Given the description of an element on the screen output the (x, y) to click on. 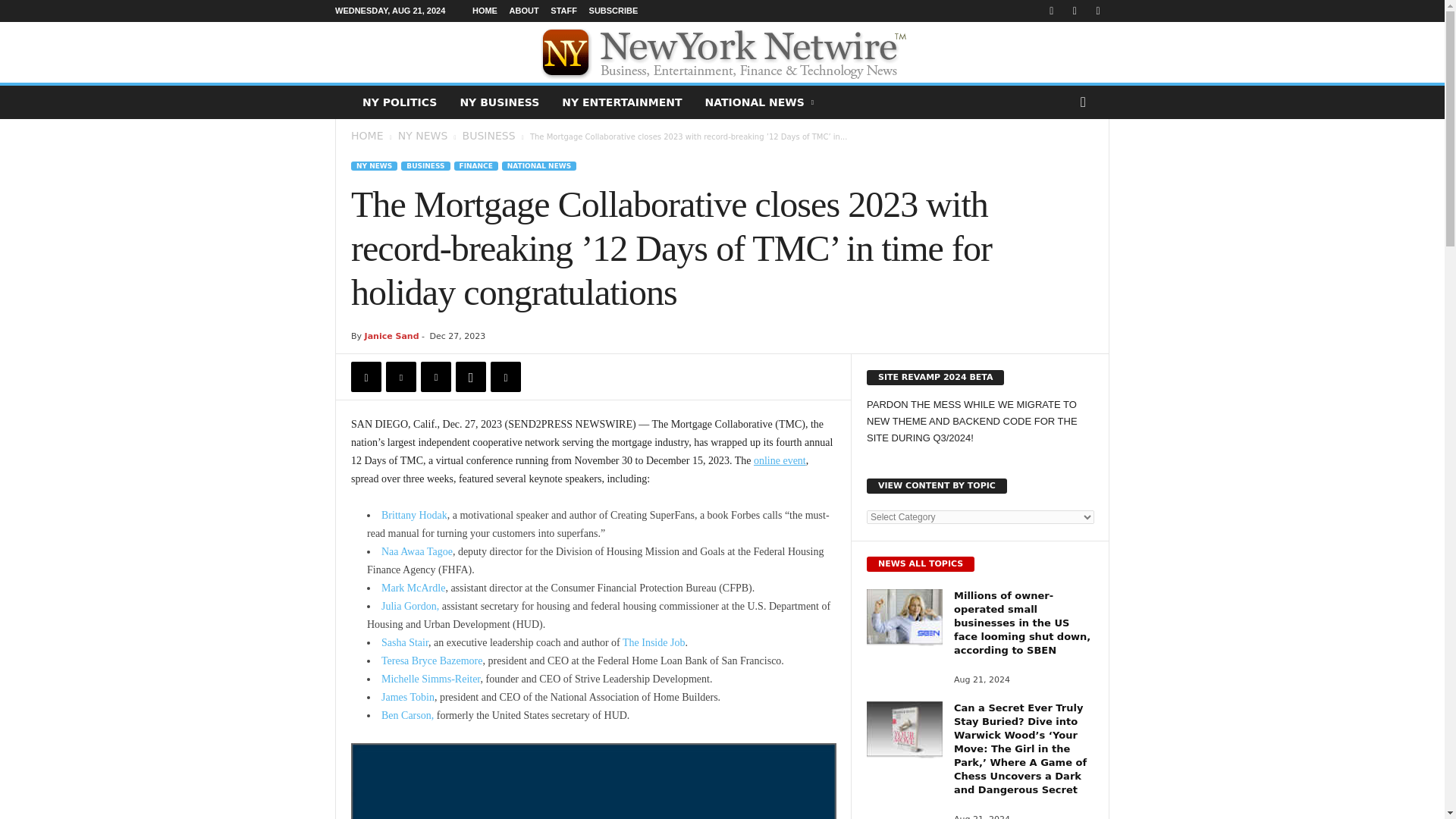
HOME (366, 135)
NY POLITICS (399, 101)
BUSINESS (489, 135)
HOME (484, 10)
NY NEWS (422, 135)
online event (780, 460)
BUSINESS (425, 165)
Linkedin (505, 376)
FINANCE (475, 165)
NY BUSINESS (499, 101)
